Given the description of an element on the screen output the (x, y) to click on. 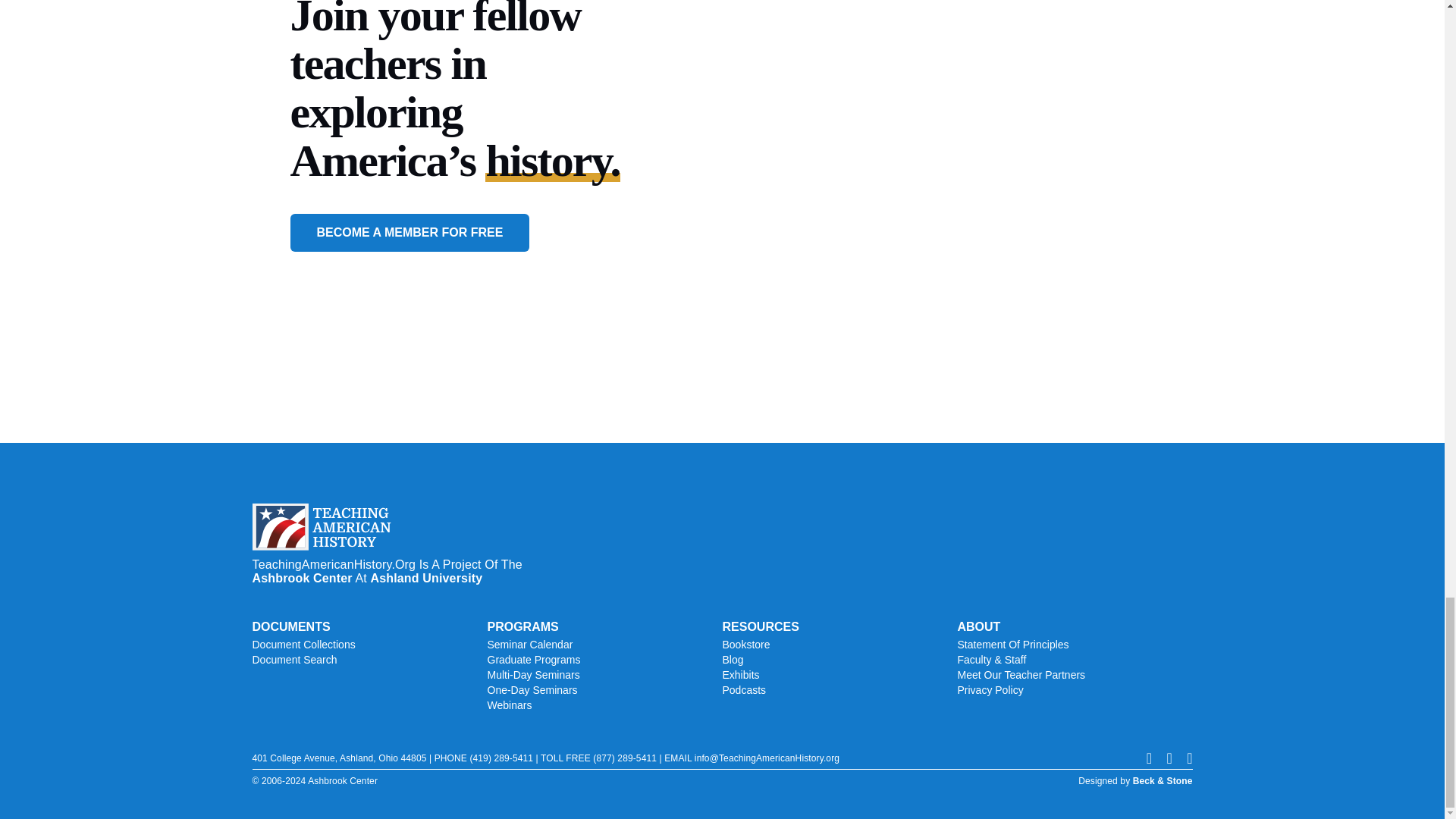
Seminar Calendar (604, 644)
Graduate Programs (604, 659)
BECOME A MEMBER FOR FREE (409, 232)
Multi-Day Seminars (604, 674)
DOCUMENTS (368, 626)
Document Search (368, 659)
Ashbrook Center (301, 577)
RESOURCES (839, 626)
Exhibits (839, 674)
One-Day Seminars (604, 689)
Webinars (604, 704)
Document Collections (368, 644)
Bookstore (839, 644)
PROGRAMS (604, 626)
Blog (839, 659)
